Given the description of an element on the screen output the (x, y) to click on. 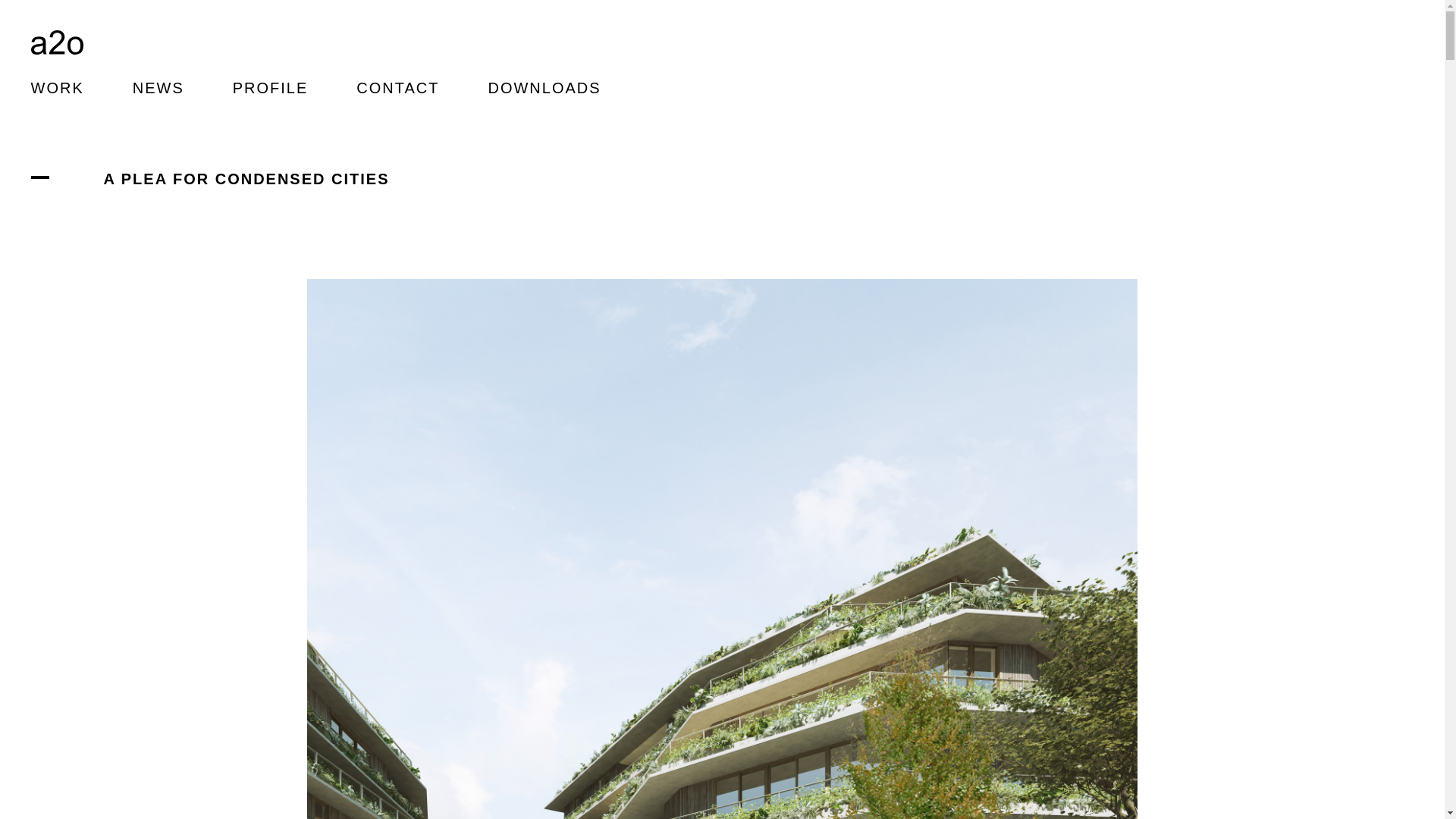
PROFILE Element type: text (270, 87)
CONTACT Element type: text (397, 87)
NEWS Element type: text (158, 87)
DOWNLOADS Element type: text (543, 87)
WORK Element type: text (56, 87)
